Given the description of an element on the screen output the (x, y) to click on. 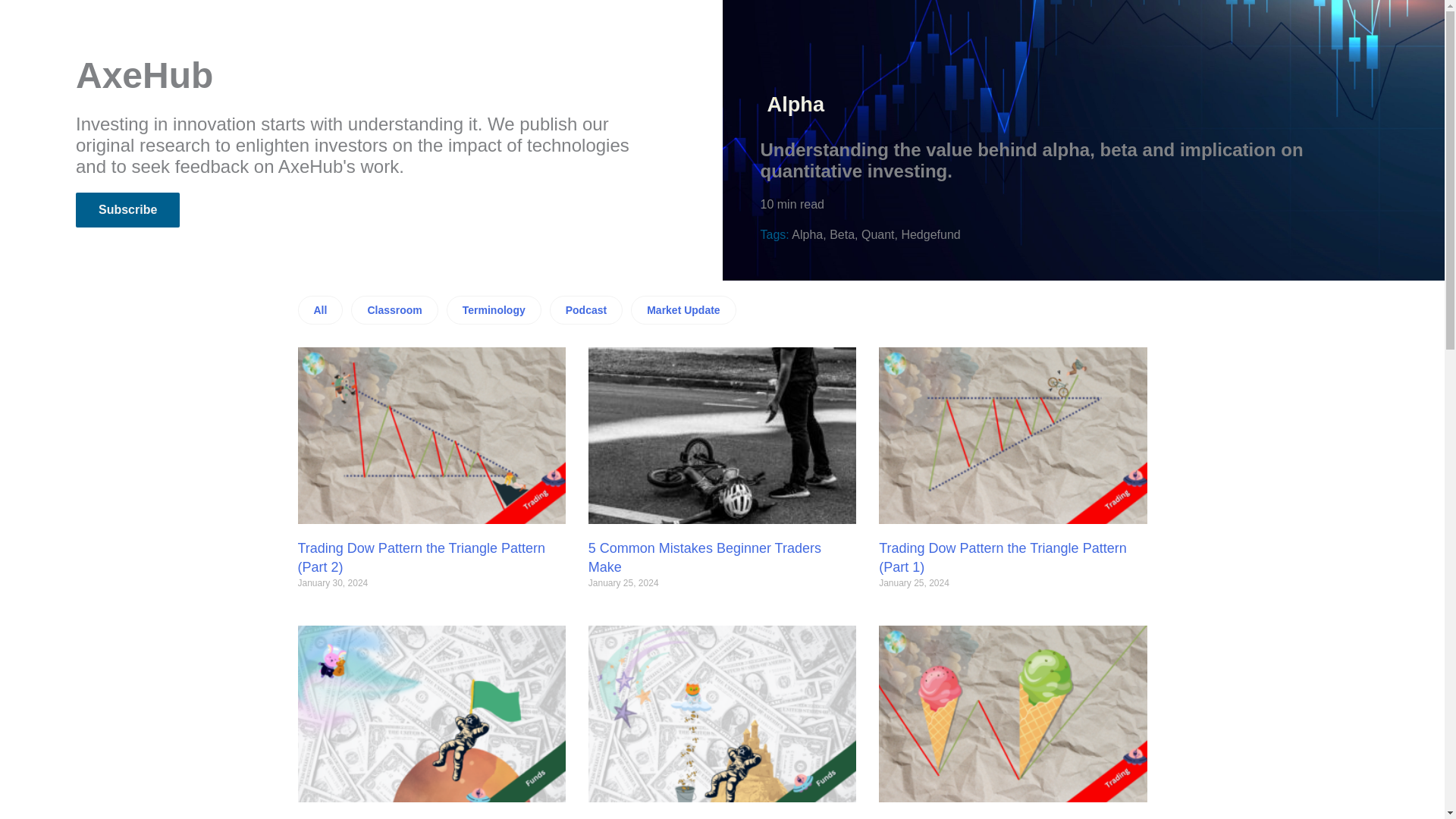
All (319, 309)
Subscribe (127, 209)
Podcast (586, 309)
Terminology (493, 309)
Alpha (796, 104)
Classroom (394, 309)
